Given the description of an element on the screen output the (x, y) to click on. 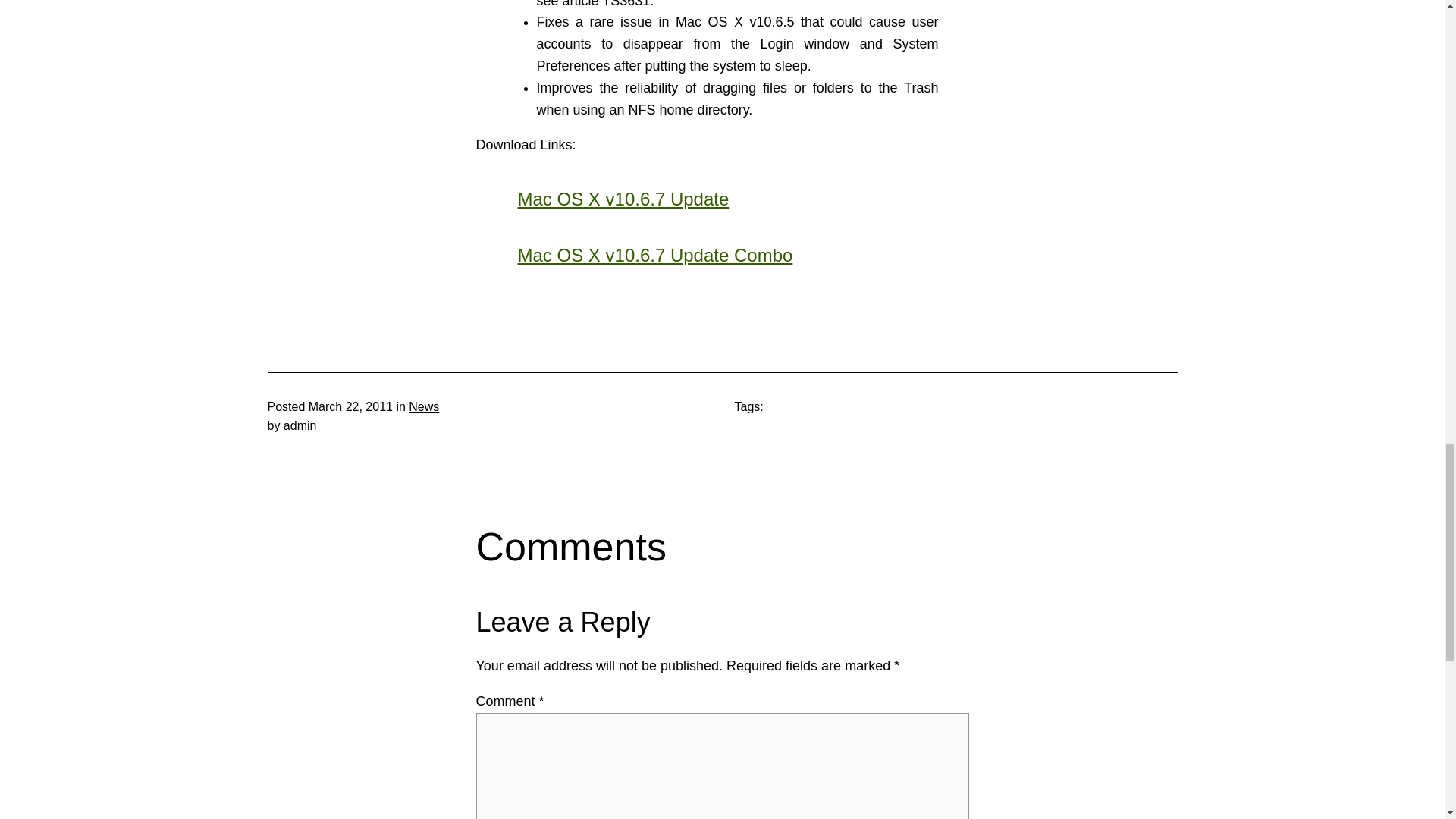
Mac OS X v10.6.7 Update (622, 199)
News (424, 406)
Mac OS X v10.6.7 Update Combo (654, 254)
